Given the description of an element on the screen output the (x, y) to click on. 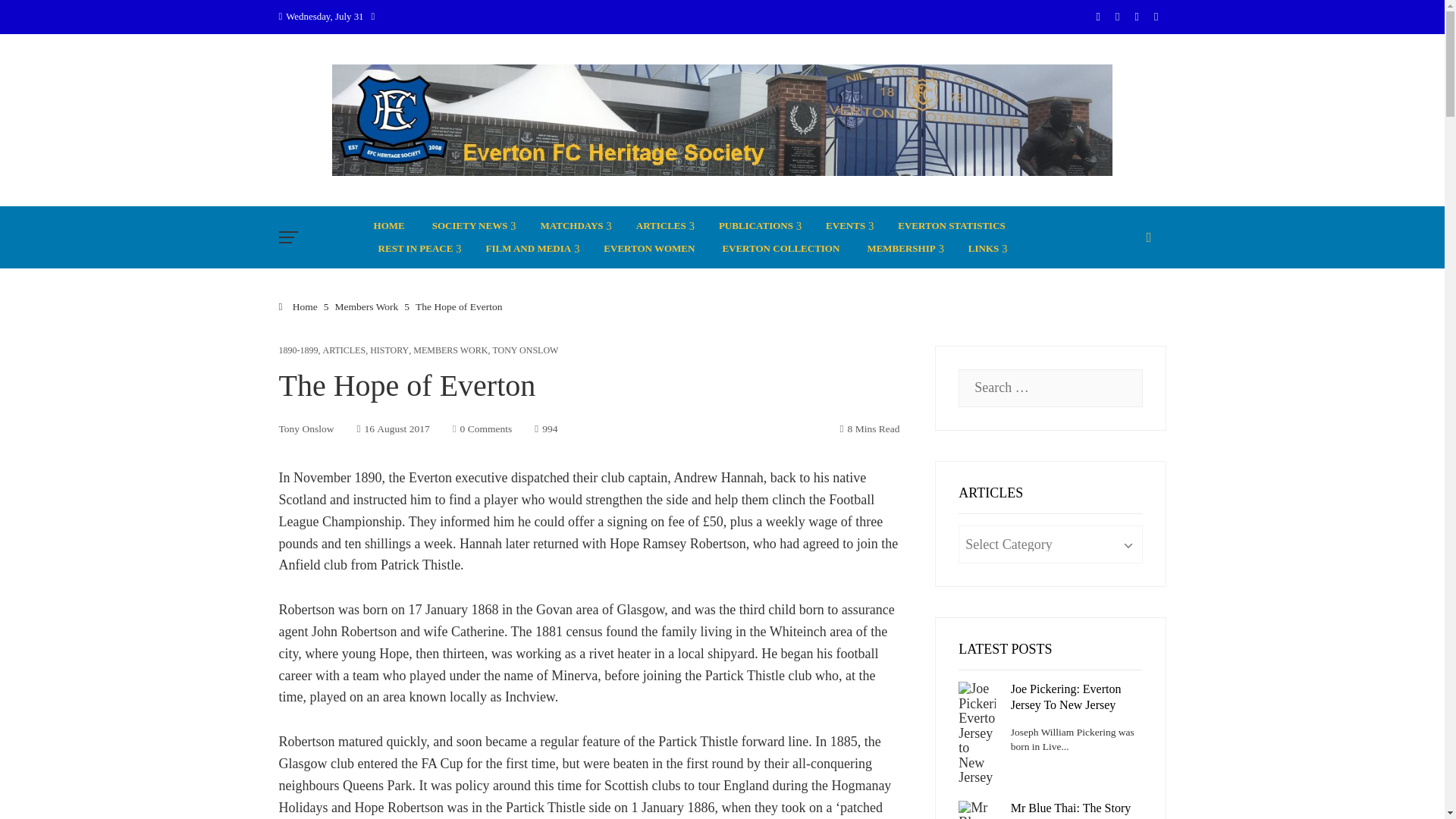
HOME (389, 225)
MATCHDAYS (574, 225)
SOCIETY NEWS (472, 225)
ARTICLES (663, 225)
